Given the description of an element on the screen output the (x, y) to click on. 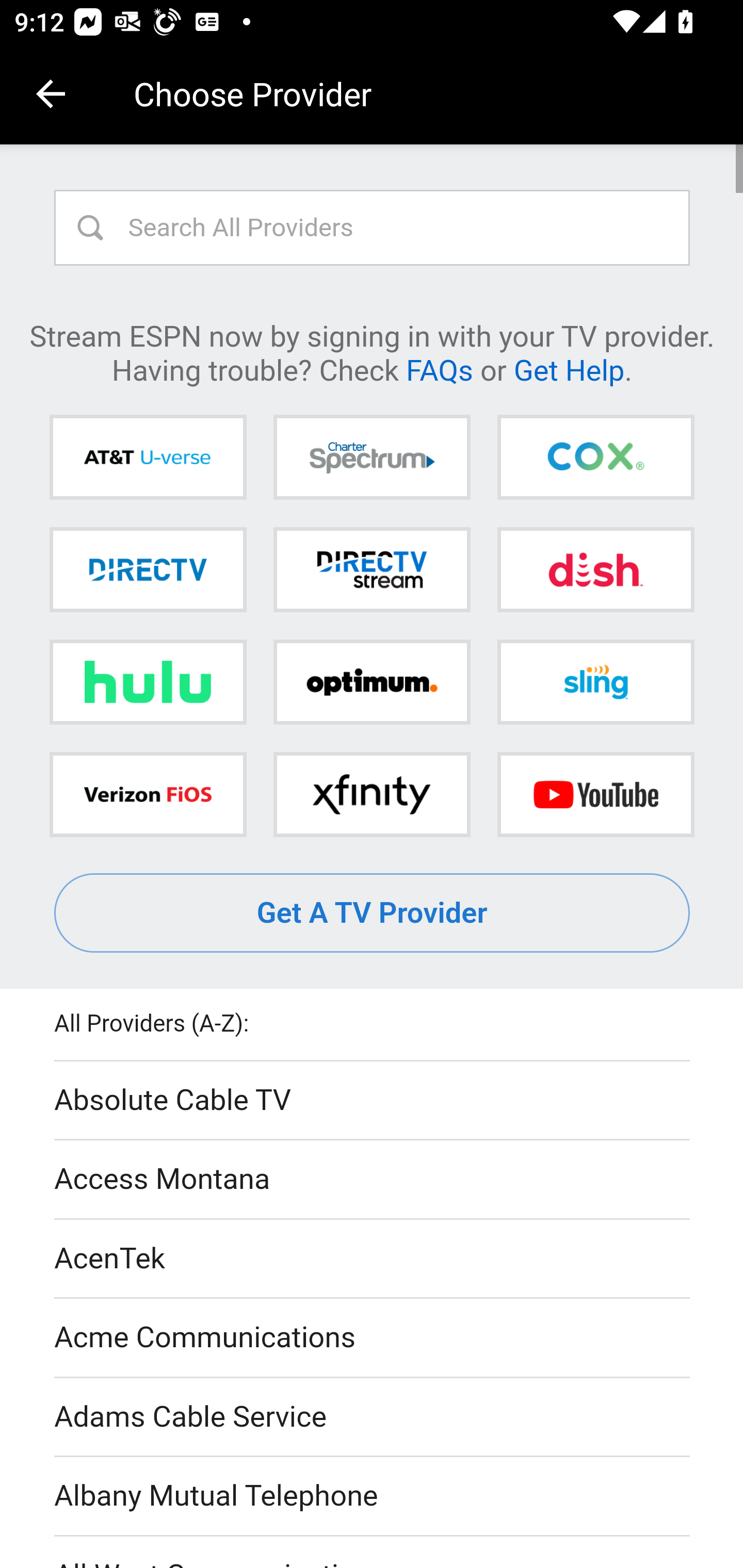
Navigate up (50, 93)
FAQs (438, 369)
Get Help (569, 369)
AT&T U-verse (147, 457)
Charter Spectrum (371, 457)
Cox (595, 457)
DIRECTV (147, 568)
DIRECTV STREAM (371, 568)
DISH (595, 568)
Hulu (147, 681)
Optimum (371, 681)
Sling TV (595, 681)
Verizon FiOS (147, 793)
Xfinity (371, 793)
YouTube TV (595, 793)
Get A TV Provider (372, 912)
Absolute Cable TV (372, 1100)
Access Montana (372, 1178)
AcenTek (372, 1258)
Acme Communications (372, 1338)
Adams Cable Service (372, 1417)
Albany Mutual Telephone (372, 1497)
